Given the description of an element on the screen output the (x, y) to click on. 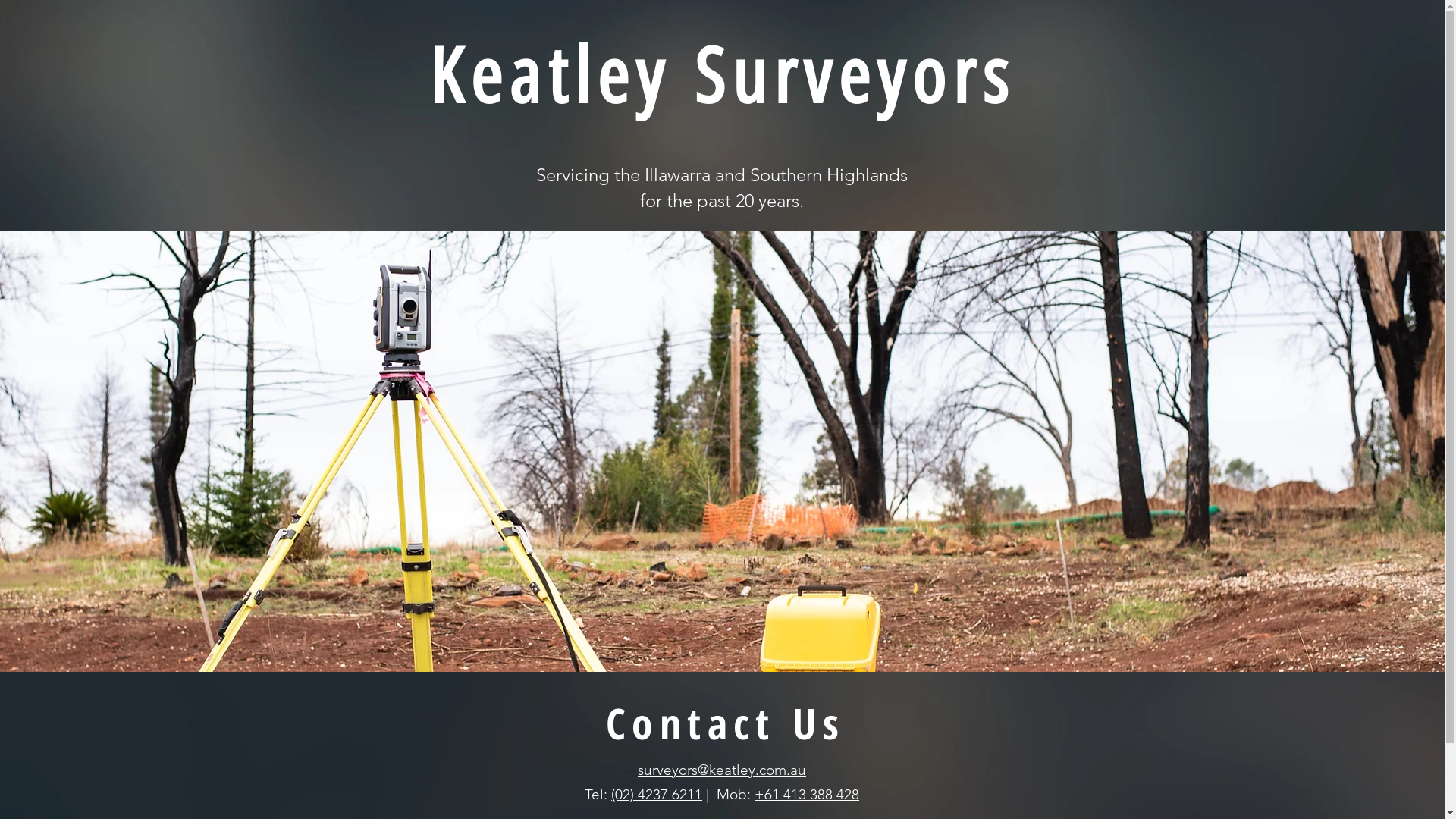
(02) 4237 6211 Element type: text (656, 794)
+61 413 388 428 Element type: text (806, 794)
surveyors@keatley.com.au Element type: text (721, 769)
